Given the description of an element on the screen output the (x, y) to click on. 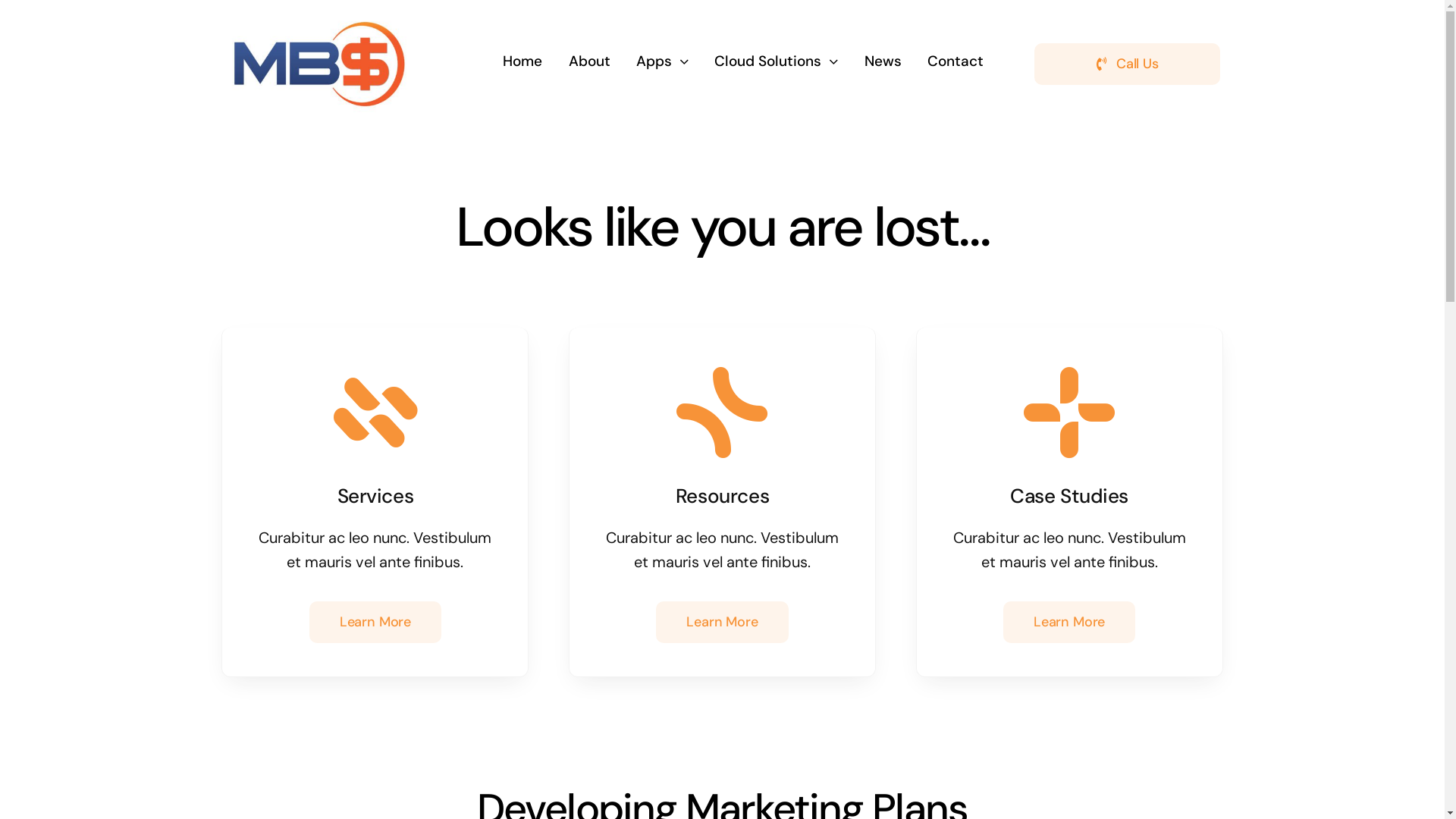
News Element type: text (882, 61)
Cloud Solutions Element type: text (775, 61)
Home Element type: text (522, 61)
Call Us Element type: text (1127, 63)
Learn More Element type: text (721, 622)
Learn More Element type: text (375, 622)
Learn More Element type: text (1069, 622)
About Element type: text (589, 61)
Contact Element type: text (955, 61)
Apps Element type: text (662, 61)
